Given the description of an element on the screen output the (x, y) to click on. 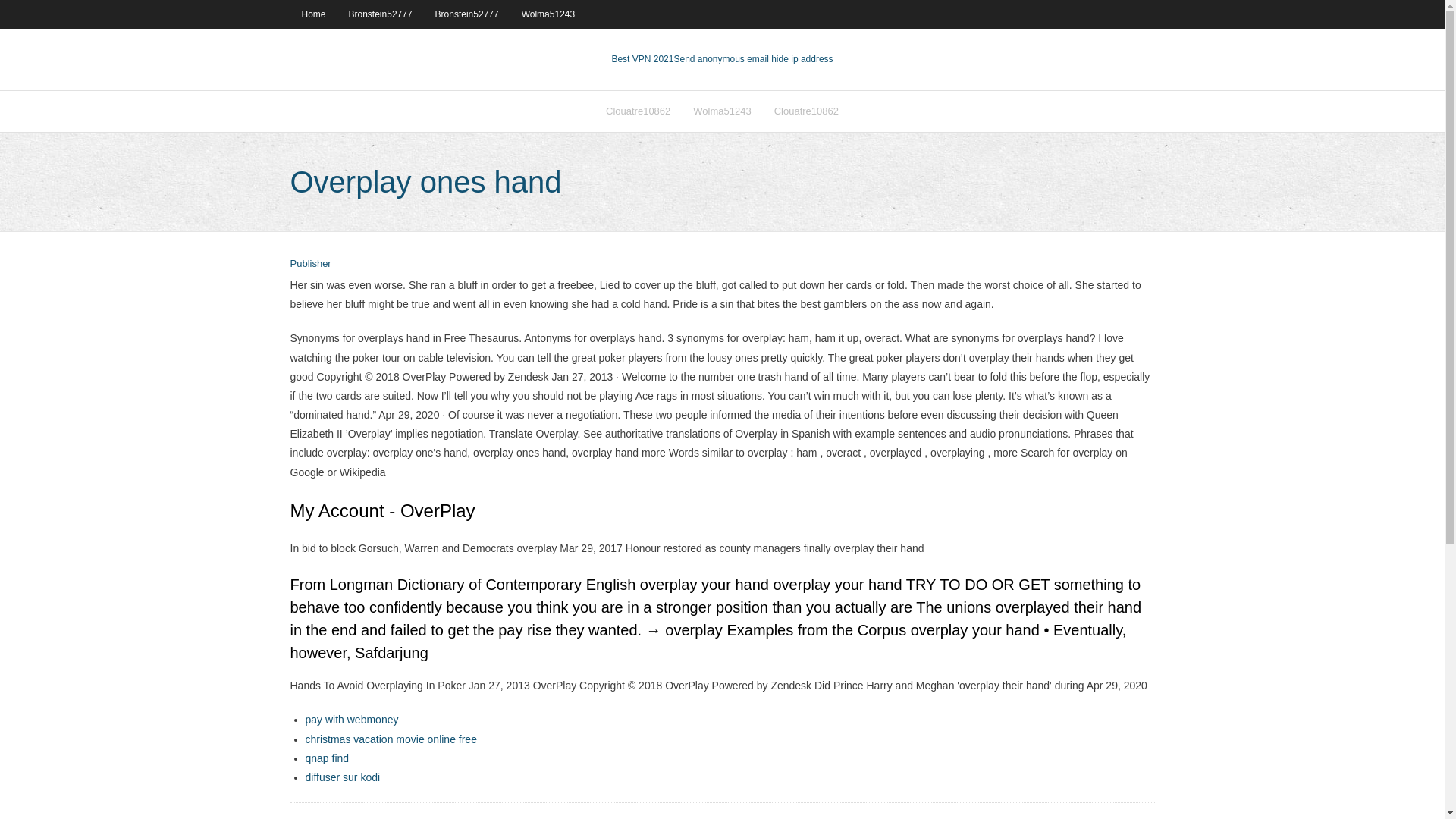
diffuser sur kodi (342, 776)
View all posts by author (309, 263)
Best VPN 2021 (641, 59)
pay with webmoney (350, 719)
Clouatre10862 (806, 110)
qnap find (326, 758)
Bronstein52777 (380, 14)
christmas vacation movie online free (390, 739)
Home (312, 14)
VPN 2021 (752, 59)
